Given the description of an element on the screen output the (x, y) to click on. 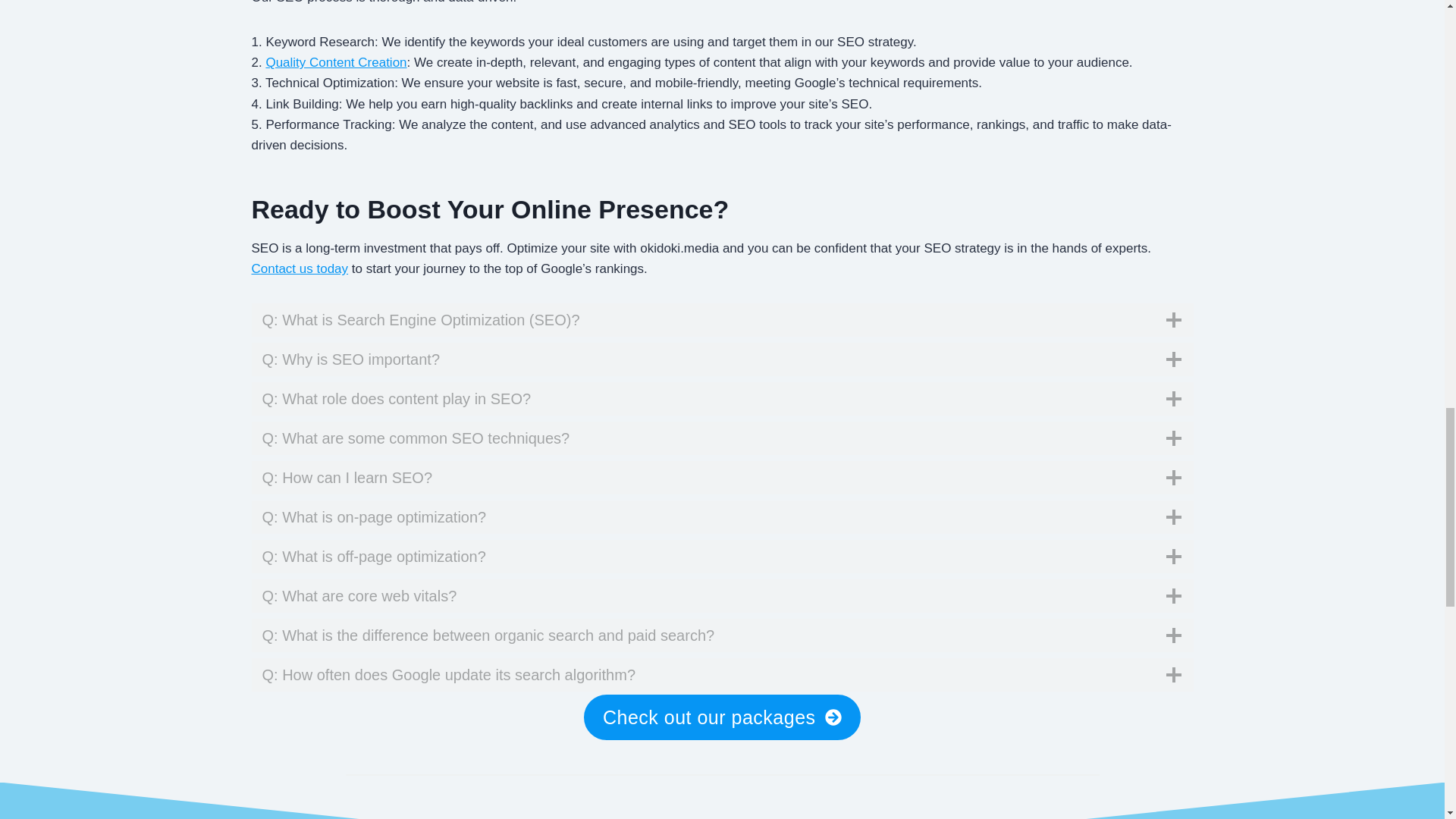
Q: What are some common SEO techniques? (722, 438)
Q: How can I learn SEO? (722, 477)
Q: What role does content play in SEO? (722, 398)
Q: What are core web vitals? (722, 595)
Q: What is on-page optimization? (722, 516)
Q: How often does Google update its search algorithm? (722, 674)
Check out our packages (721, 716)
Q: What is off-page optimization? (722, 556)
Contact us today (300, 268)
Quality Content Creation (335, 62)
Q: Why is SEO important? (722, 359)
